Given the description of an element on the screen output the (x, y) to click on. 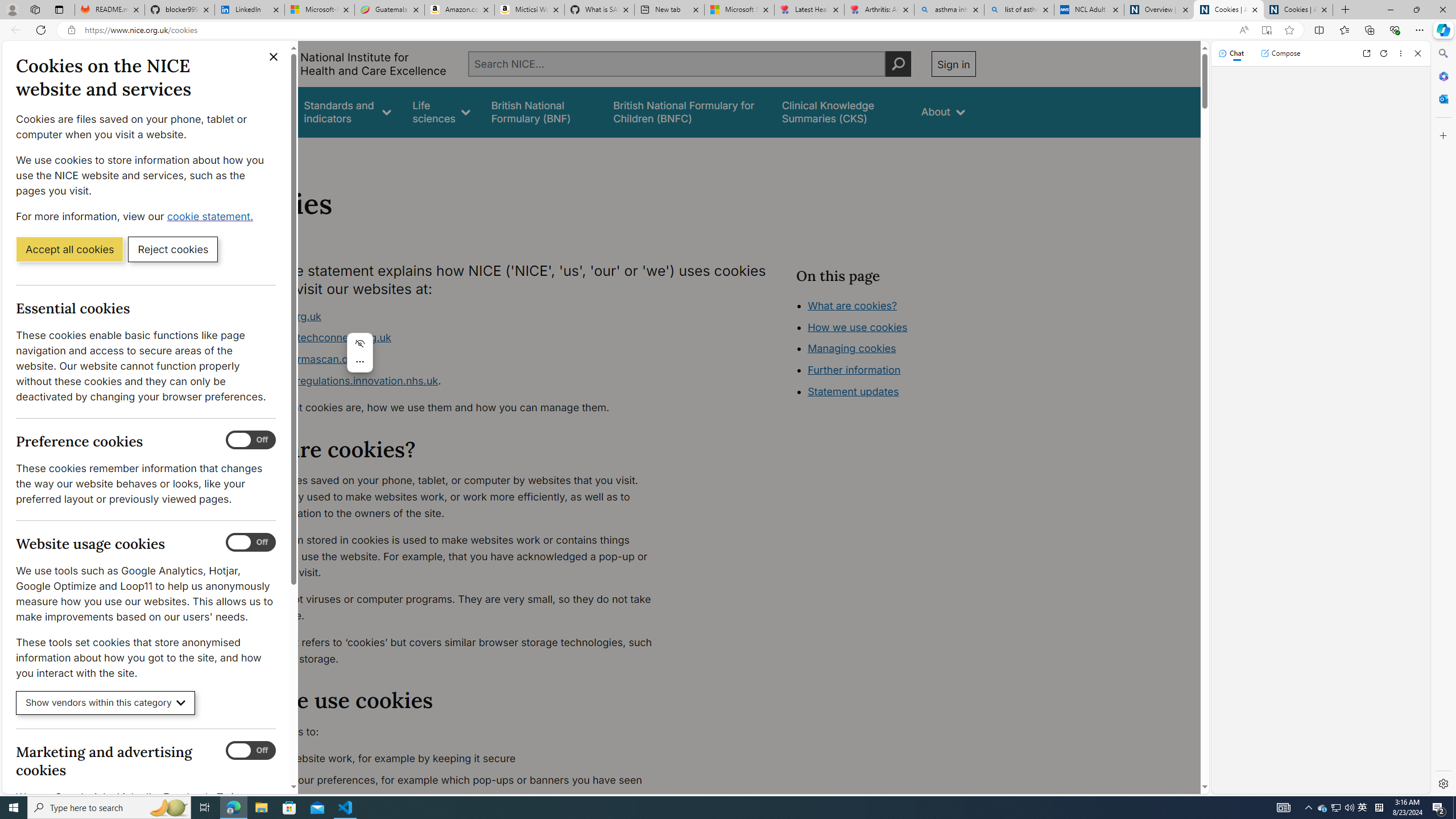
About (283, 152)
www.ukpharmascan.org.uk (305, 359)
Compose (1280, 52)
false (841, 111)
NCL Adult Asthma Inhaler Choice Guideline (1088, 9)
www.nice.org.uk (279, 315)
Statement updates (853, 391)
Sign in (952, 63)
www.digitalregulations.innovation.nhs.uk. (452, 380)
